Given the description of an element on the screen output the (x, y) to click on. 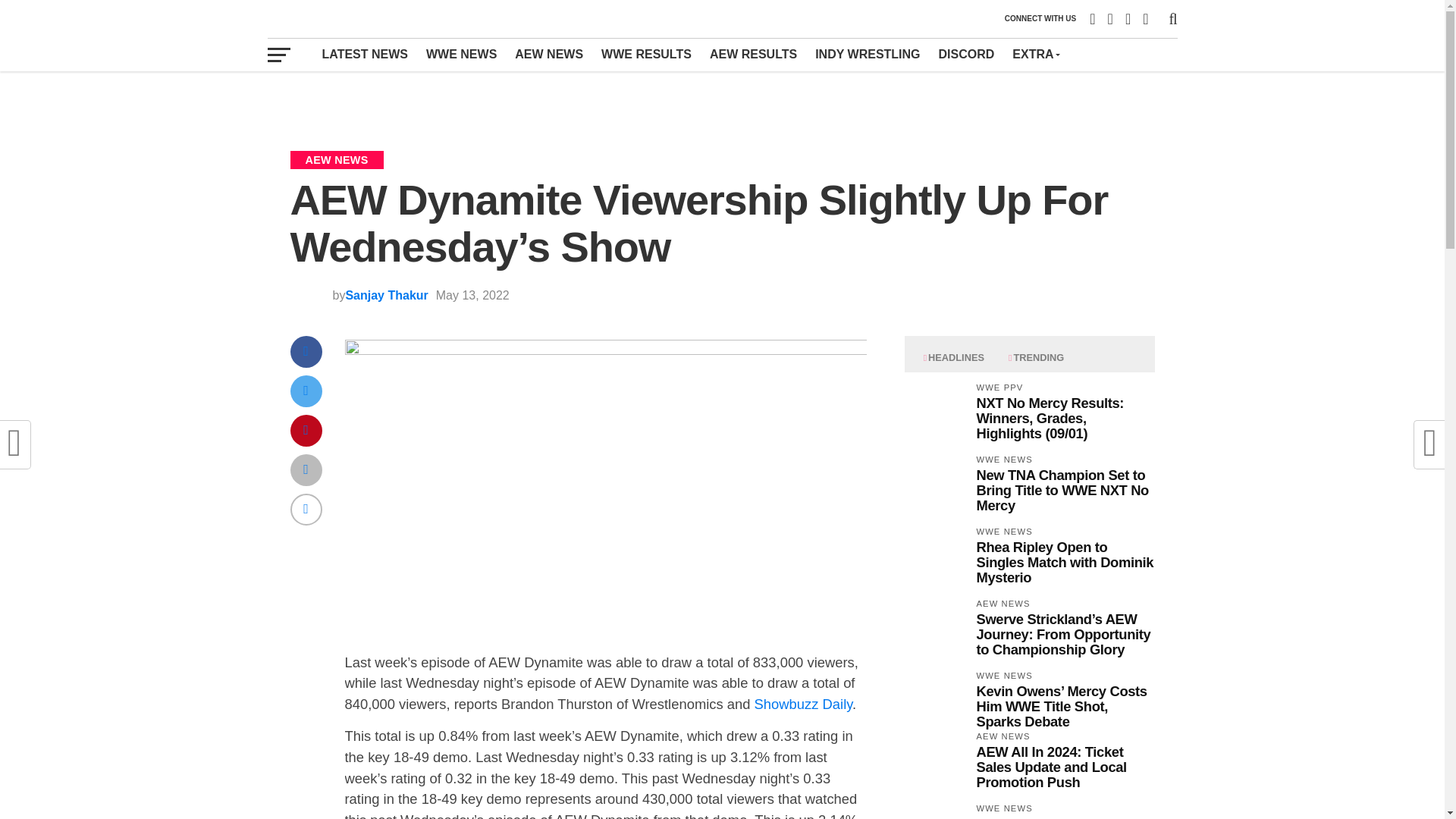
INDY WRESTLING (867, 54)
WWE NEWS (460, 54)
Posts by Sanjay Thakur (386, 295)
AEW RESULTS (753, 54)
EXTRA (1035, 54)
LATEST NEWS (364, 54)
AEW NEWS (548, 54)
DISCORD (967, 54)
WWE RESULTS (646, 54)
